Given the description of an element on the screen output the (x, y) to click on. 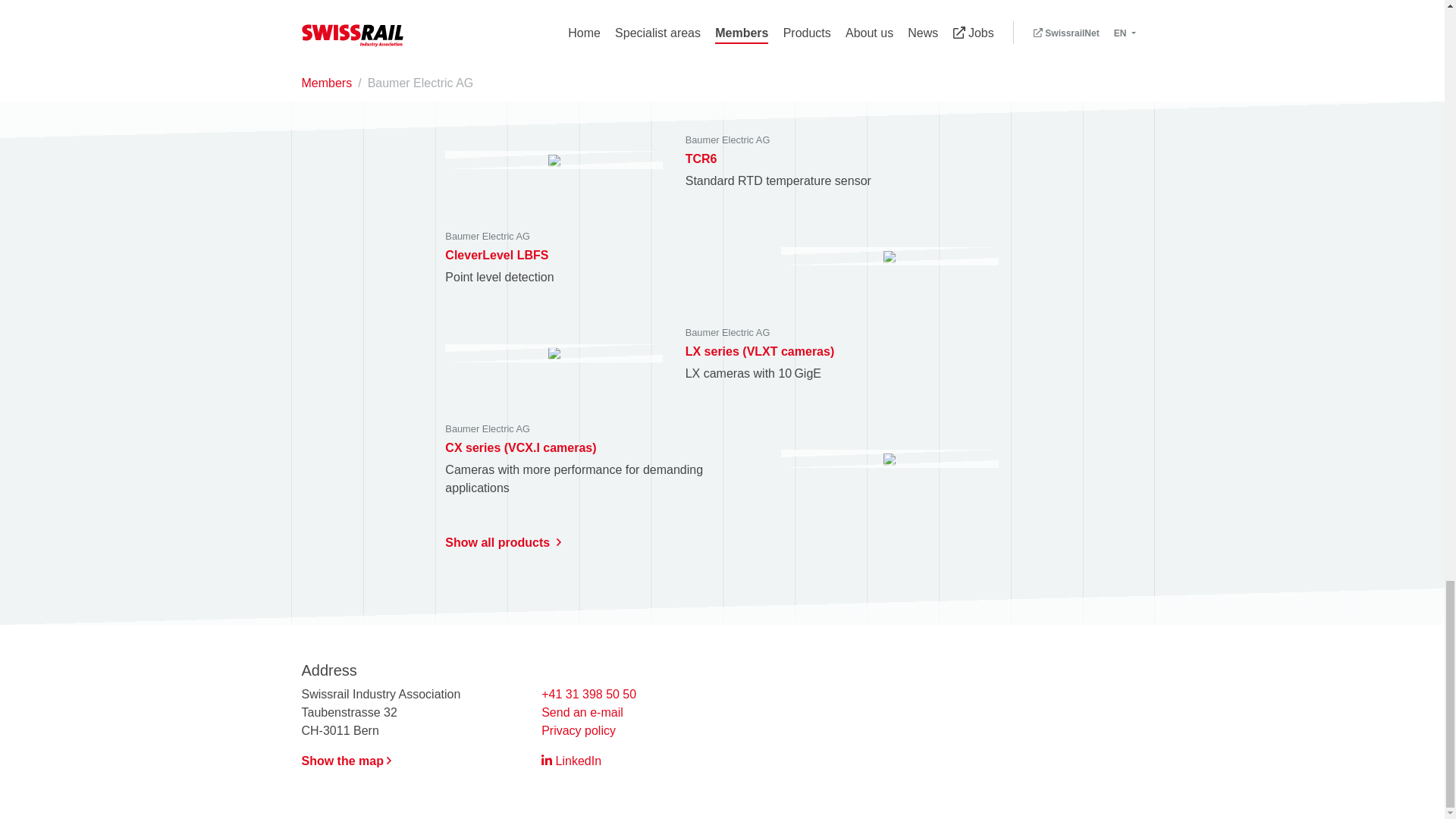
CleverLevel LBFS (496, 254)
TCR6 (701, 158)
TE2 (456, 61)
